Given the description of an element on the screen output the (x, y) to click on. 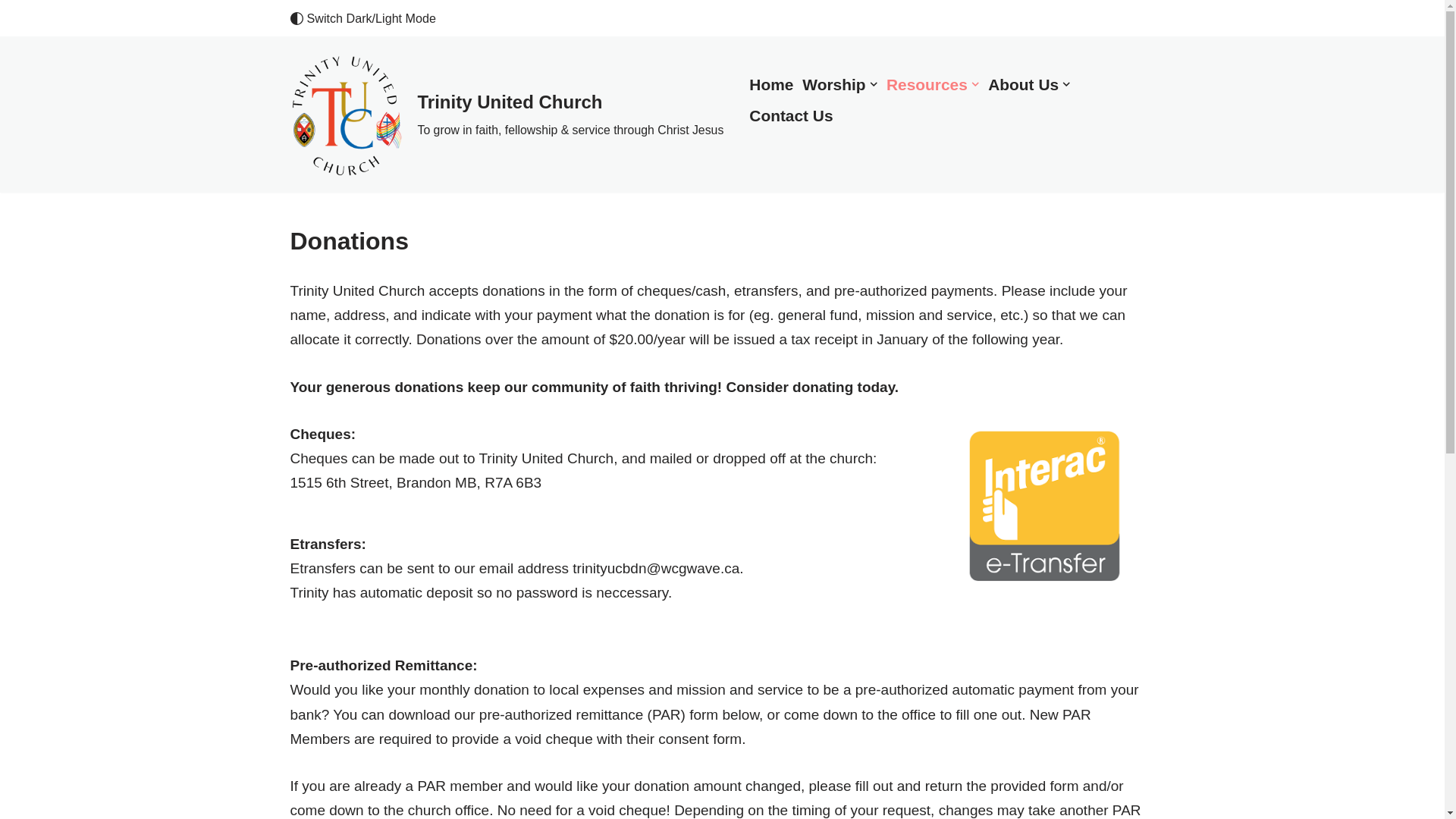
Contact Us (790, 115)
About Us (1023, 83)
Worship (833, 83)
Resources (927, 83)
Skip to content (11, 31)
Home (771, 83)
